Given the description of an element on the screen output the (x, y) to click on. 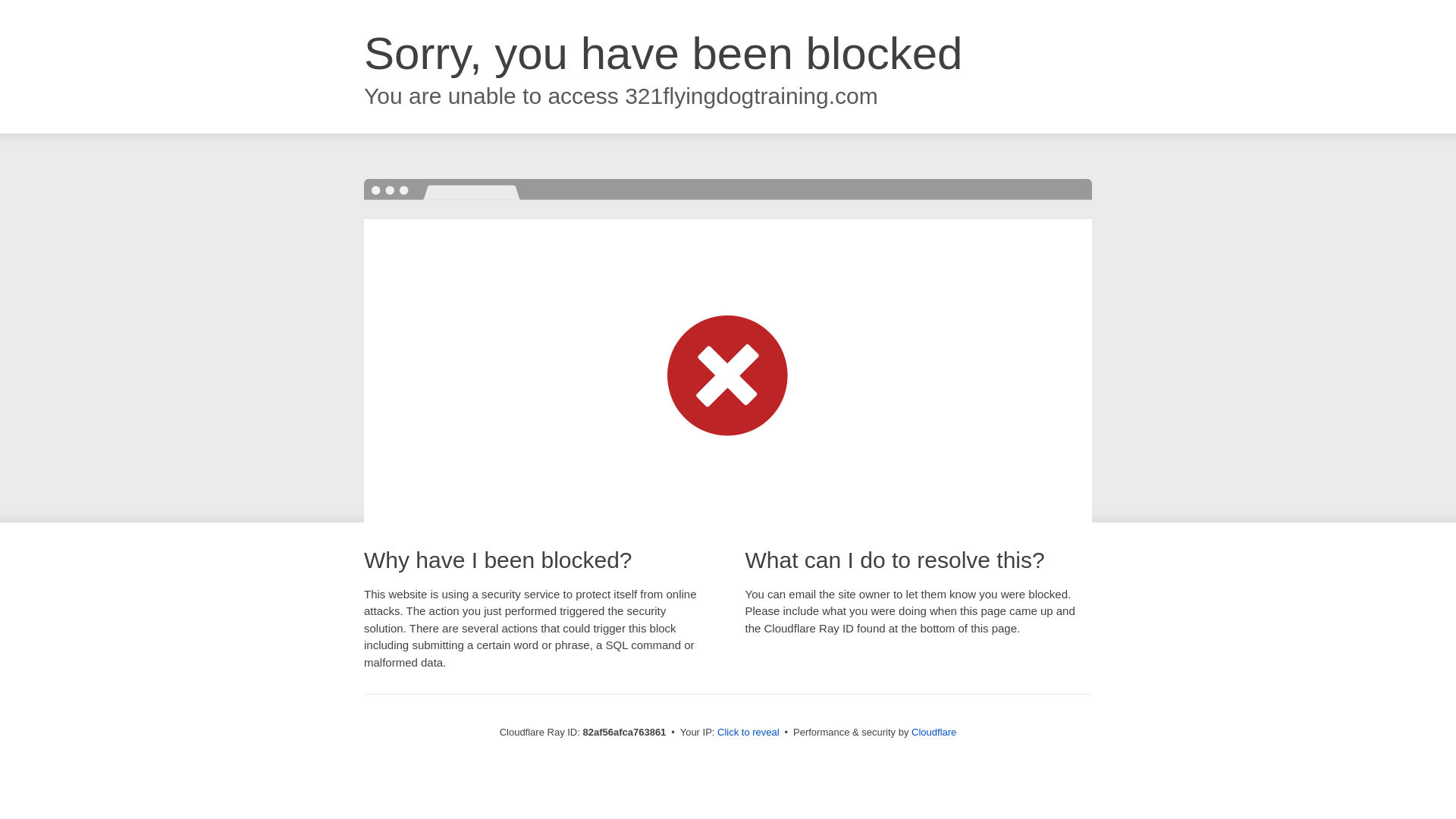
Cloudflare Element type: text (933, 731)
Click to reveal Element type: text (748, 732)
